Given the description of an element on the screen output the (x, y) to click on. 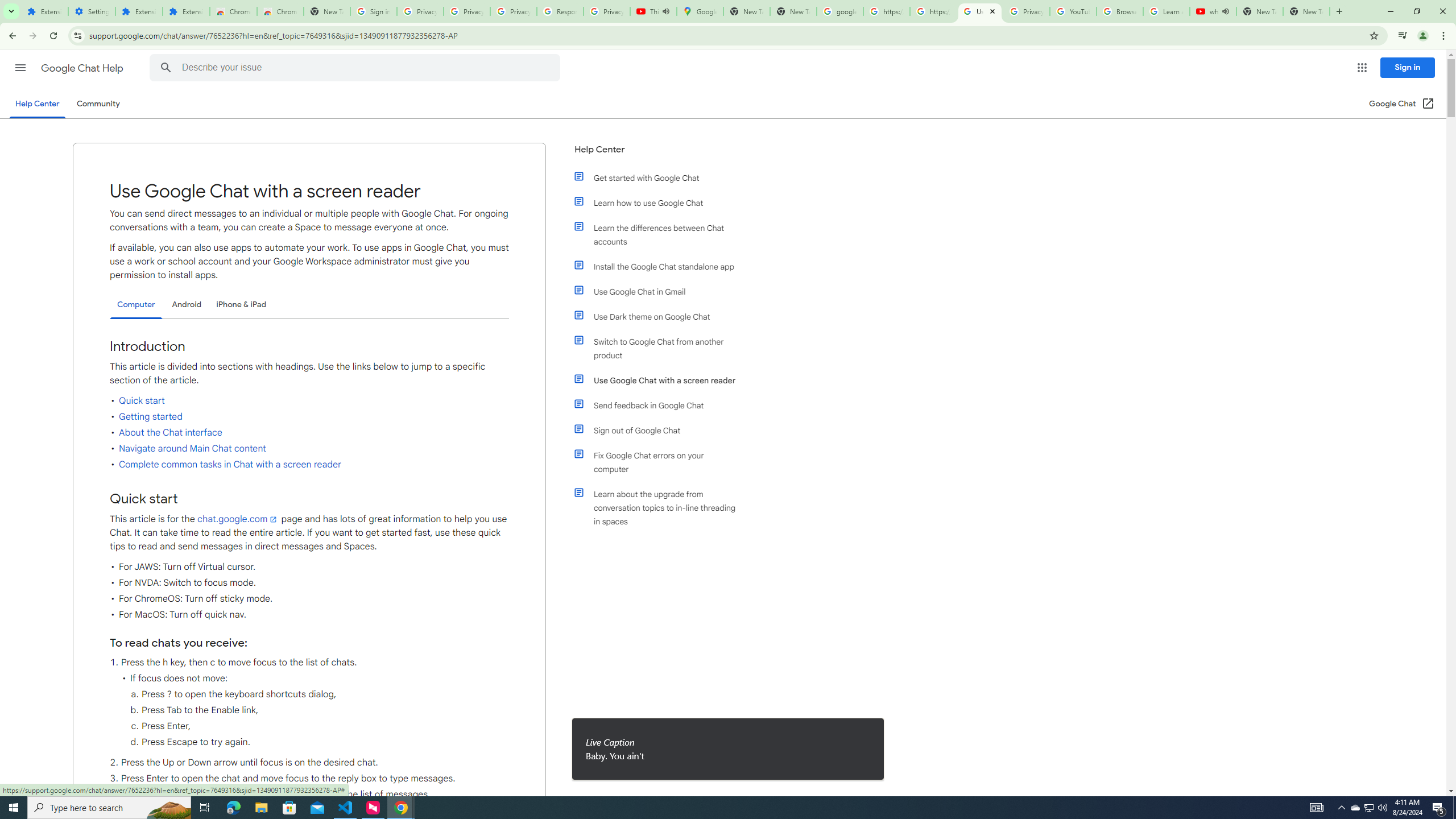
Chrome Web Store (233, 11)
Use Dark theme on Google Chat (661, 316)
chat.google.com (238, 518)
Fix Google Chat errors on your computer (661, 462)
Extensions (186, 11)
Learn the differences between Chat accounts (661, 234)
Chrome Web Store - Themes (279, 11)
